Given the description of an element on the screen output the (x, y) to click on. 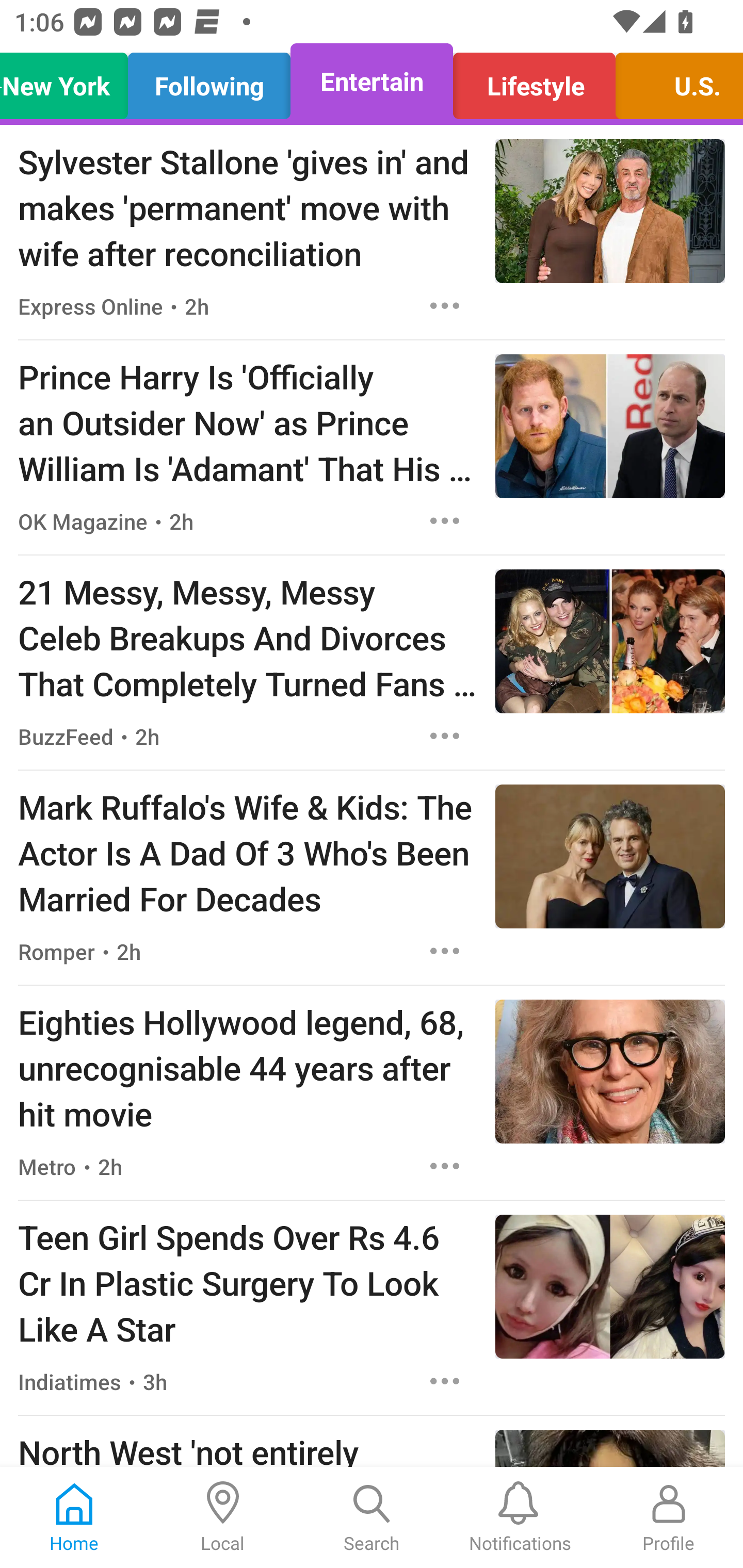
➣New York (69, 81)
Following (209, 81)
Entertain (371, 81)
Lifestyle (534, 81)
U.S. (673, 81)
Options (444, 305)
Options (444, 520)
Options (444, 736)
Options (444, 950)
Options (444, 1166)
Options (444, 1381)
Local (222, 1517)
Search (371, 1517)
Notifications (519, 1517)
Profile (668, 1517)
